Given the description of an element on the screen output the (x, y) to click on. 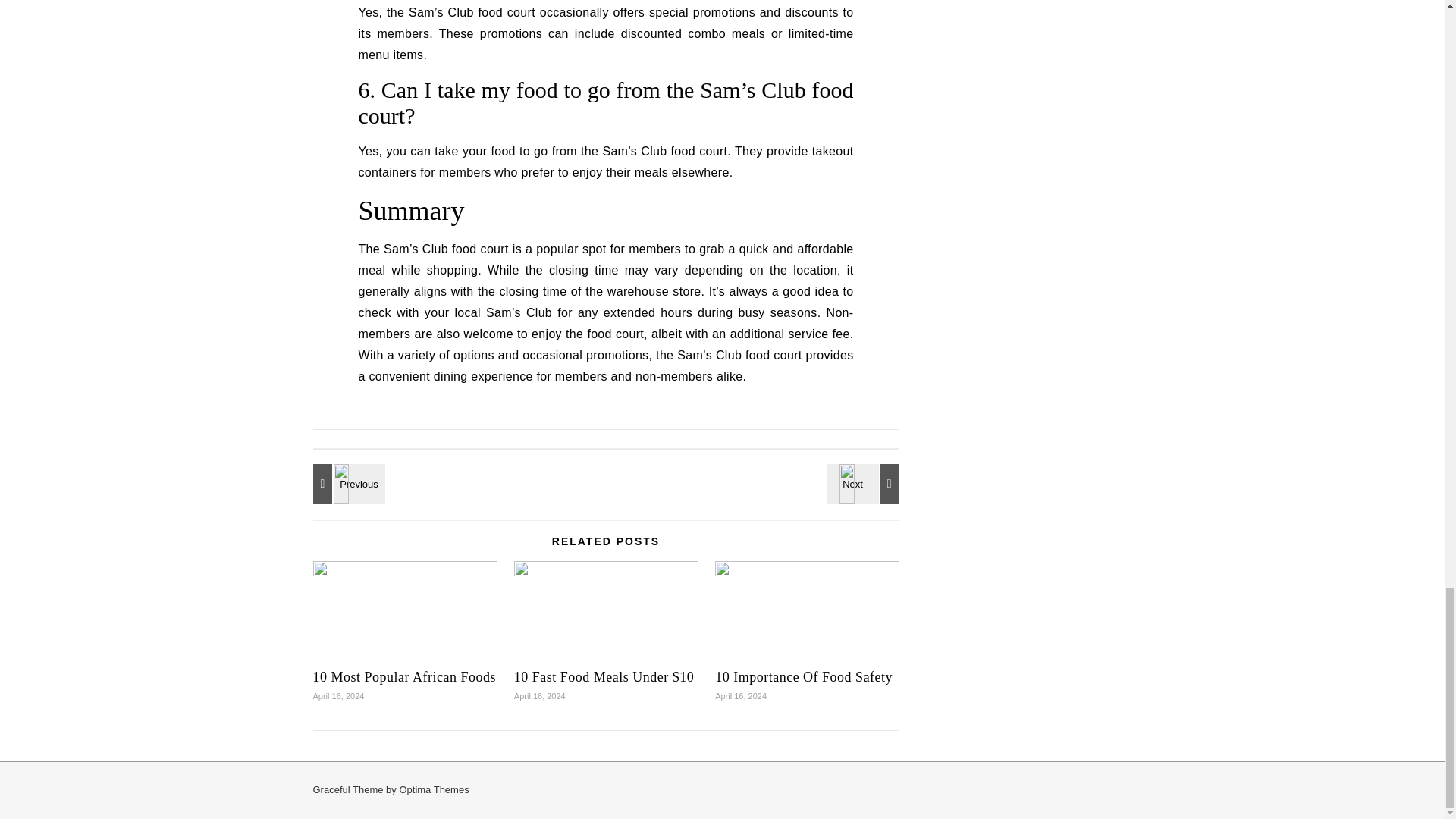
10 Most Popular African Foods (404, 676)
How To Get Worm Food In Terraria (346, 483)
10 Importance Of Food Safety (803, 676)
Optima Themes (433, 789)
How Does Slow Movement Aid Sloths In Acquiring Food (865, 483)
